Given the description of an element on the screen output the (x, y) to click on. 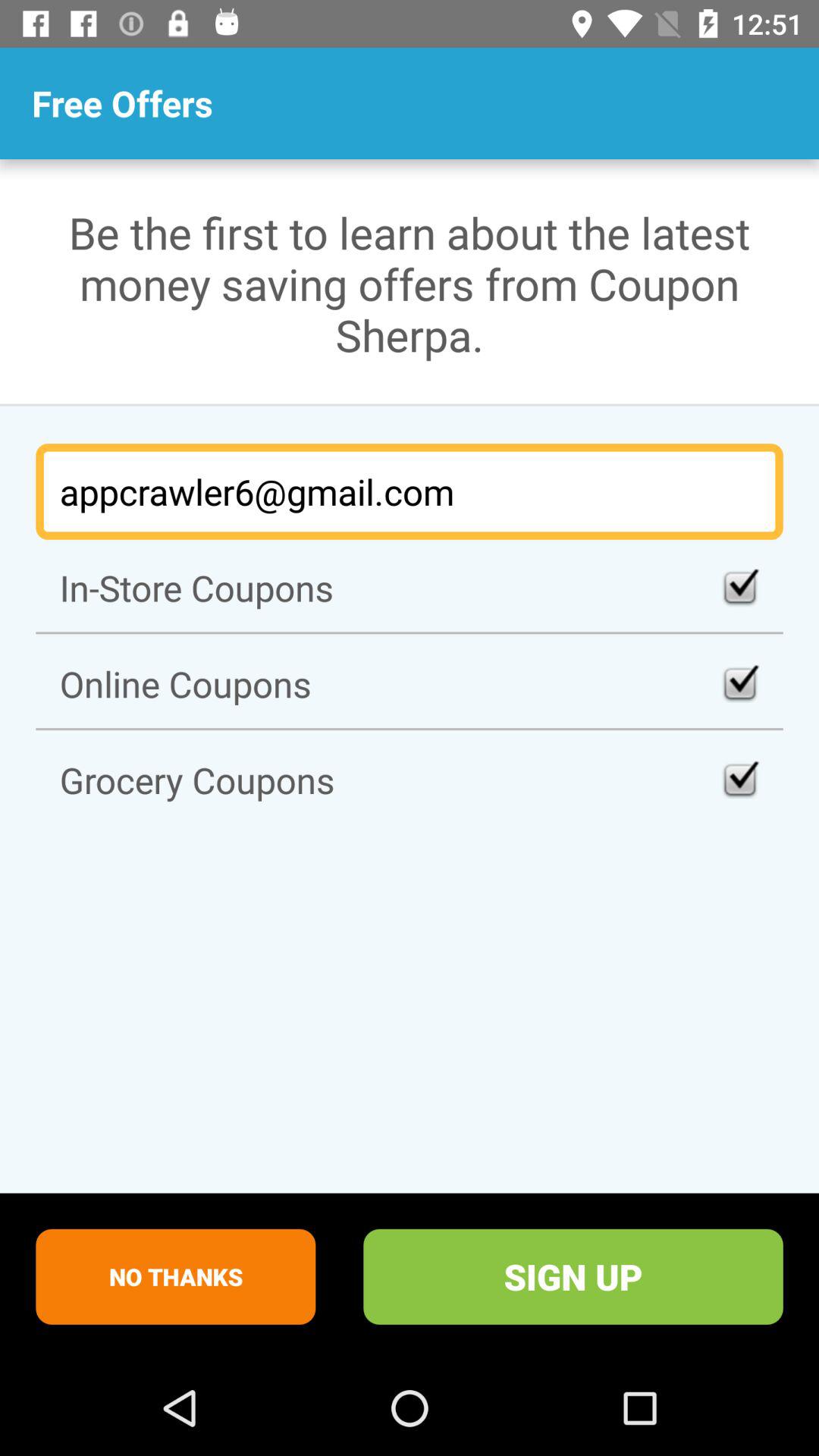
turn on the online coupons icon (409, 683)
